Given the description of an element on the screen output the (x, y) to click on. 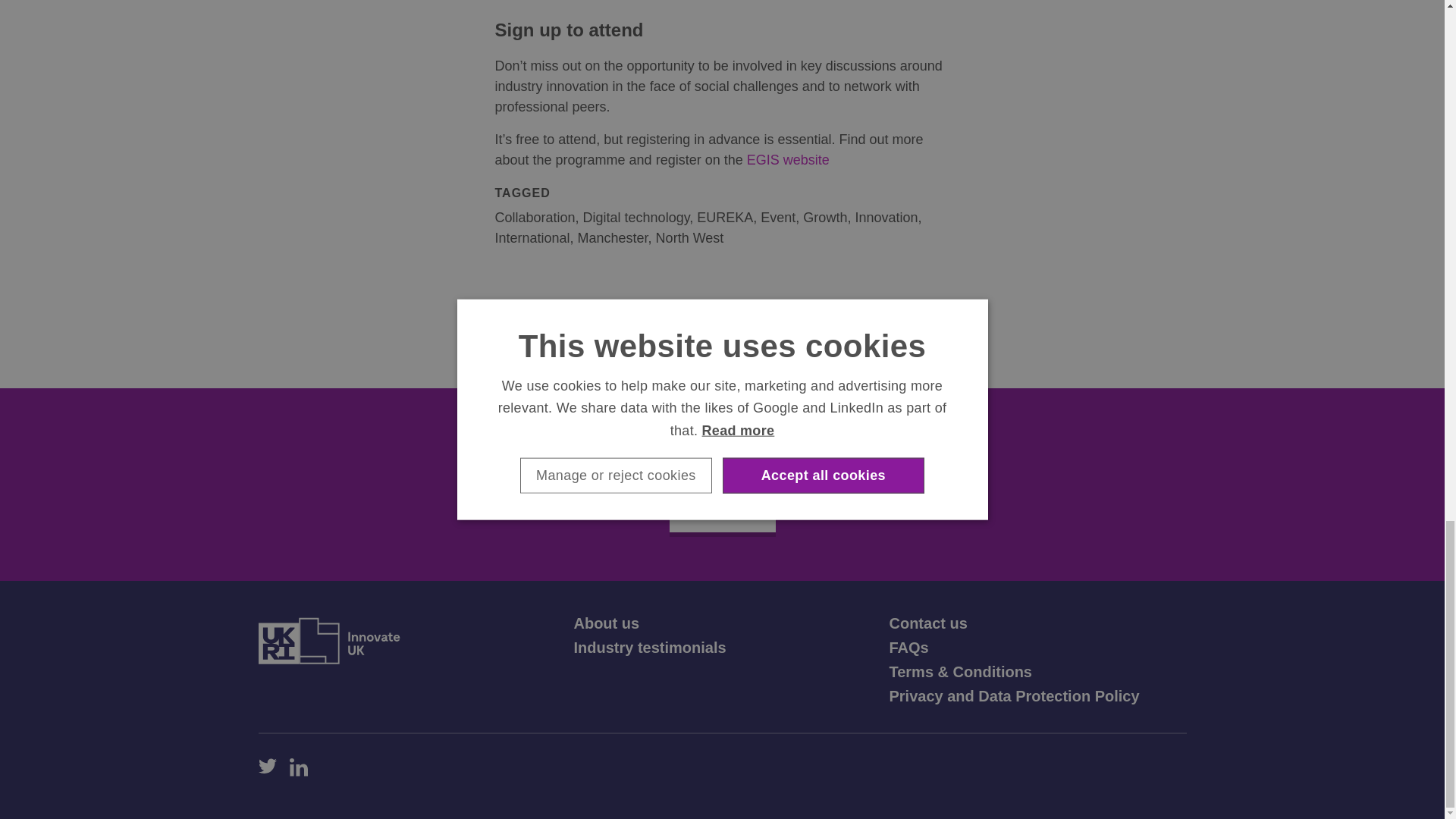
Industry testimonials (649, 647)
EGIS website (787, 159)
About us (606, 623)
Innovate UK Website (327, 640)
Industry testimonials (649, 647)
Contact us (927, 623)
Join (721, 510)
Privacy and Data Protection Policy (1013, 695)
Link to Immersive Tech Network on LinkedIn (298, 767)
Contact us (927, 623)
FAQs (908, 647)
Link to Immersive Tech Network on Twitter (266, 767)
About us (606, 623)
